Given the description of an element on the screen output the (x, y) to click on. 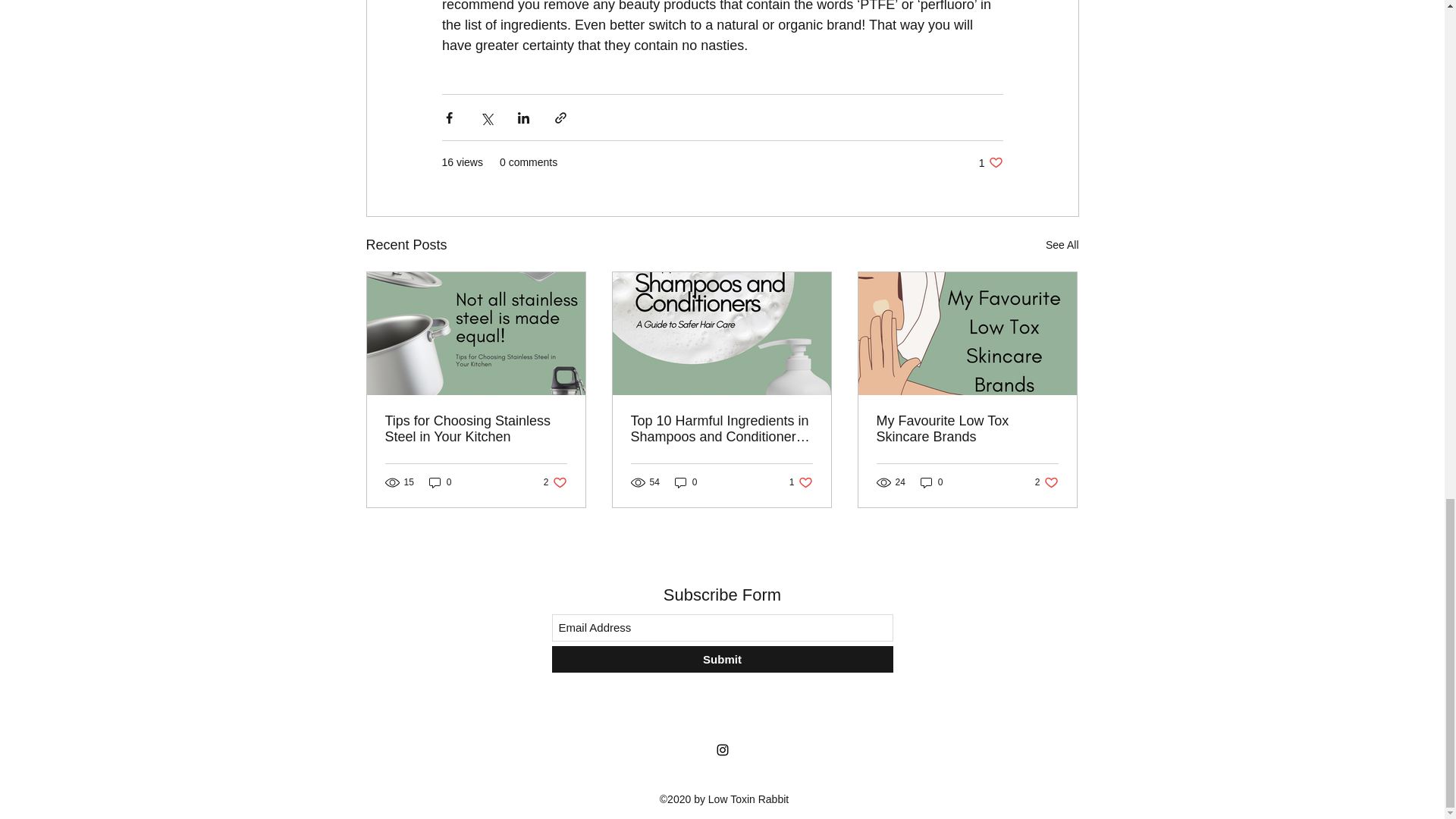
Tips for Choosing Stainless Steel in Your Kitchen (476, 429)
See All (1061, 245)
My Favourite Low Tox Skincare Brands (967, 429)
Submit (722, 659)
0 (931, 481)
0 (800, 481)
0 (440, 481)
